Given the description of an element on the screen output the (x, y) to click on. 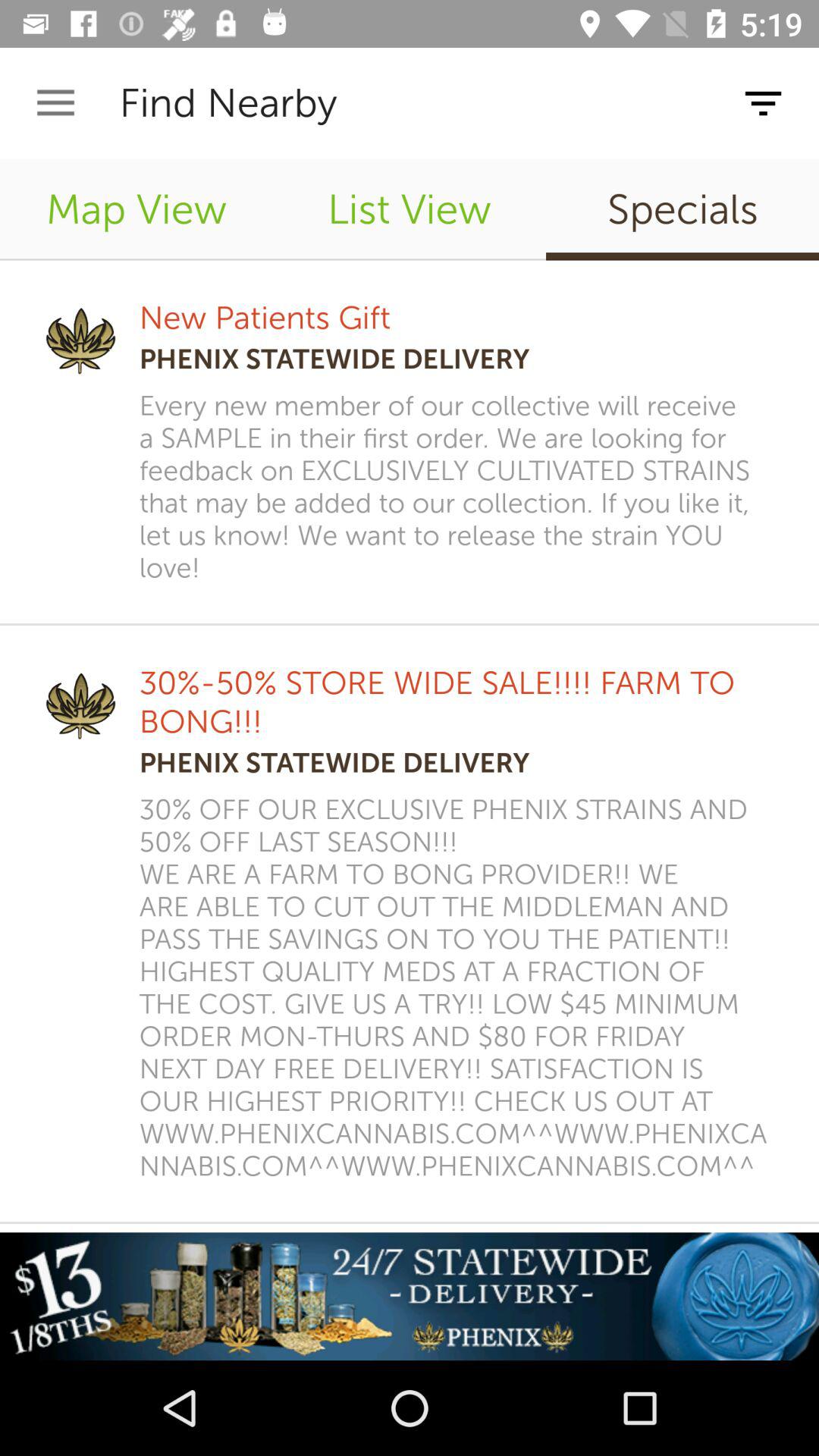
flip until 30 off our icon (459, 987)
